Given the description of an element on the screen output the (x, y) to click on. 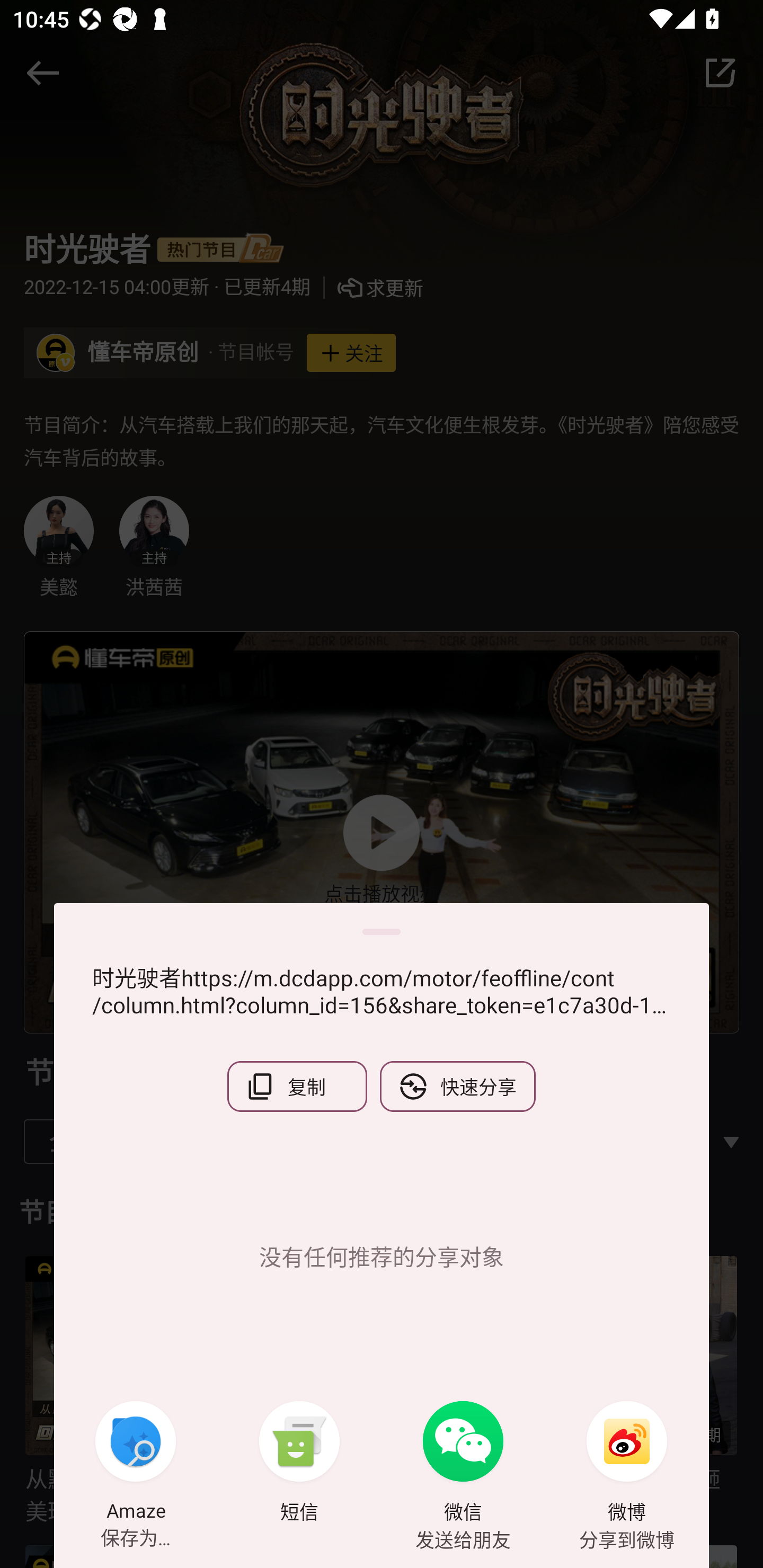
复制 (297, 1086)
快速分享 (457, 1086)
Amaze 保存为… (135, 1463)
短信 (299, 1463)
微信 发送给朋友 (463, 1463)
微博 分享到微博 (626, 1463)
